Given the description of an element on the screen output the (x, y) to click on. 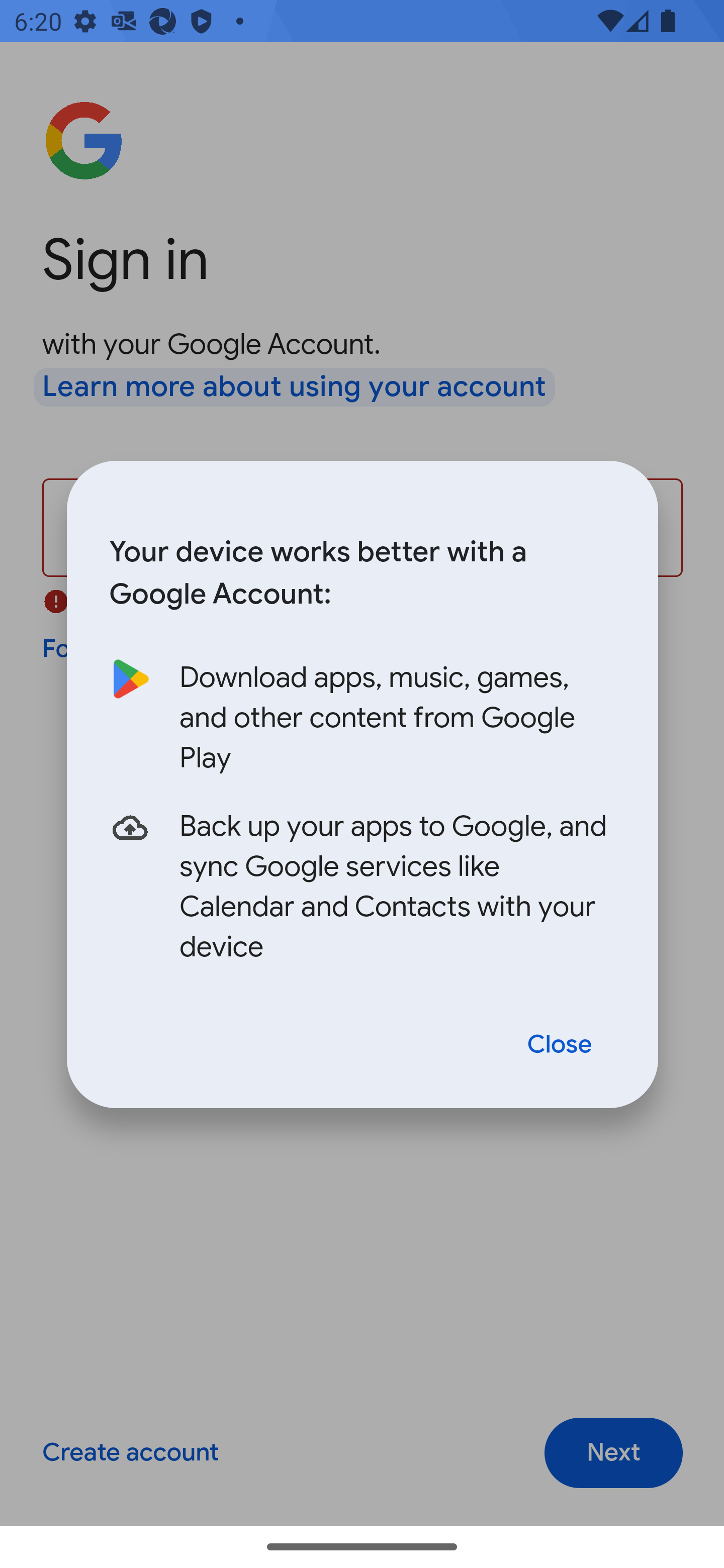
Close (560, 1044)
